Given the description of an element on the screen output the (x, y) to click on. 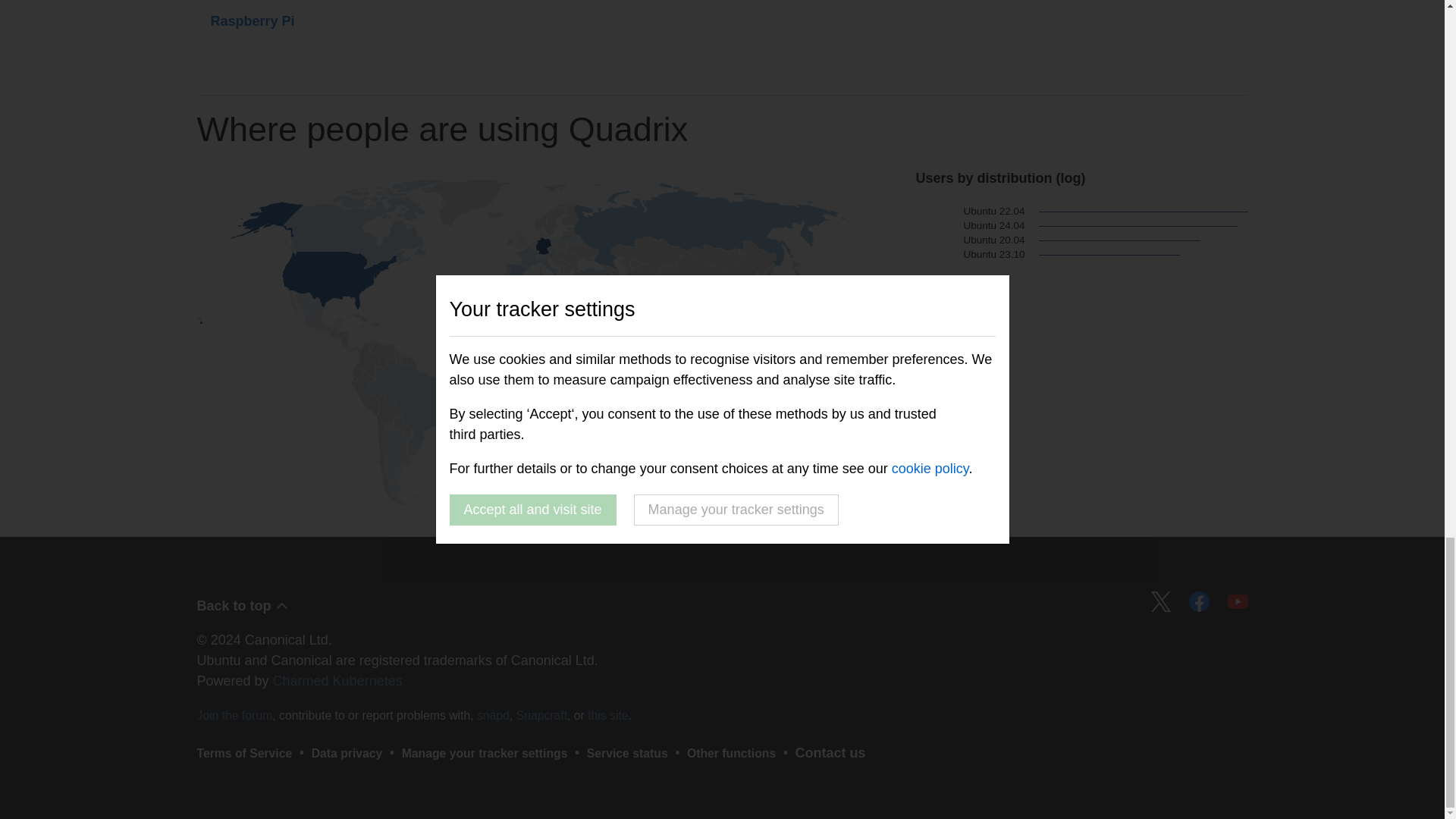
Ubuntu 22.04 (970, 211)
Ubuntu 24.04 (970, 225)
Ubuntu 23.10 (970, 254)
Ubuntu 20.04 (970, 240)
